Given the description of an element on the screen output the (x, y) to click on. 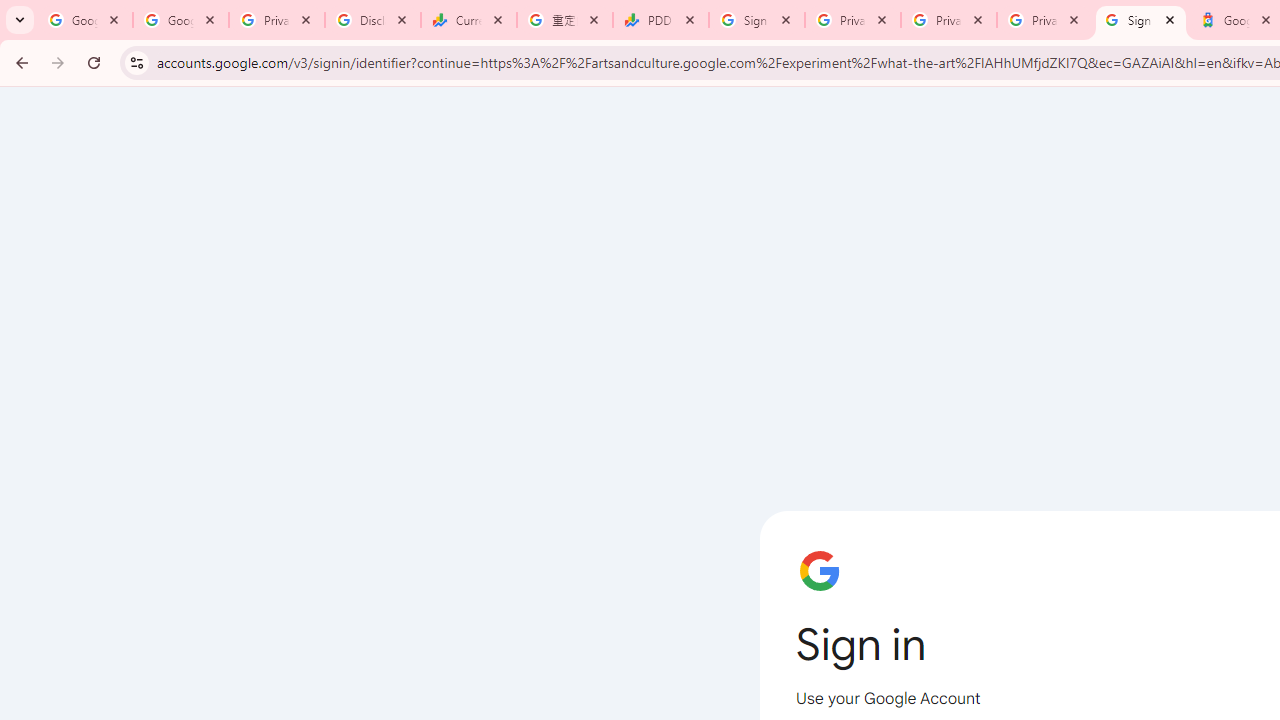
Privacy Checkup (949, 20)
Sign in - Google Accounts (1141, 20)
Currencies - Google Finance (469, 20)
